Given the description of an element on the screen output the (x, y) to click on. 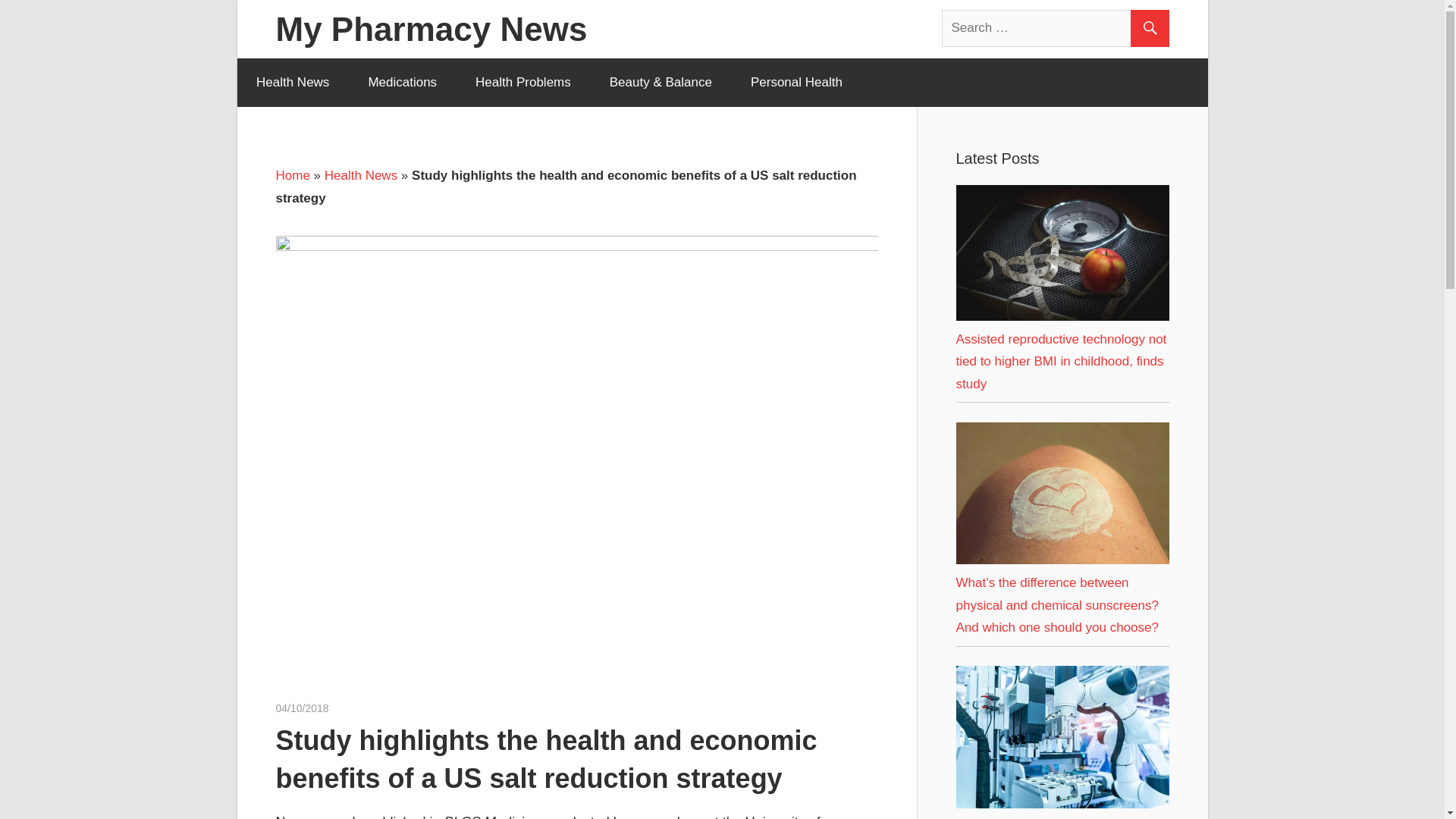
Health Problems (524, 82)
Search for: (1055, 27)
My Pharmacy News (432, 28)
Medications (403, 82)
21:12 (302, 707)
